Given the description of an element on the screen output the (x, y) to click on. 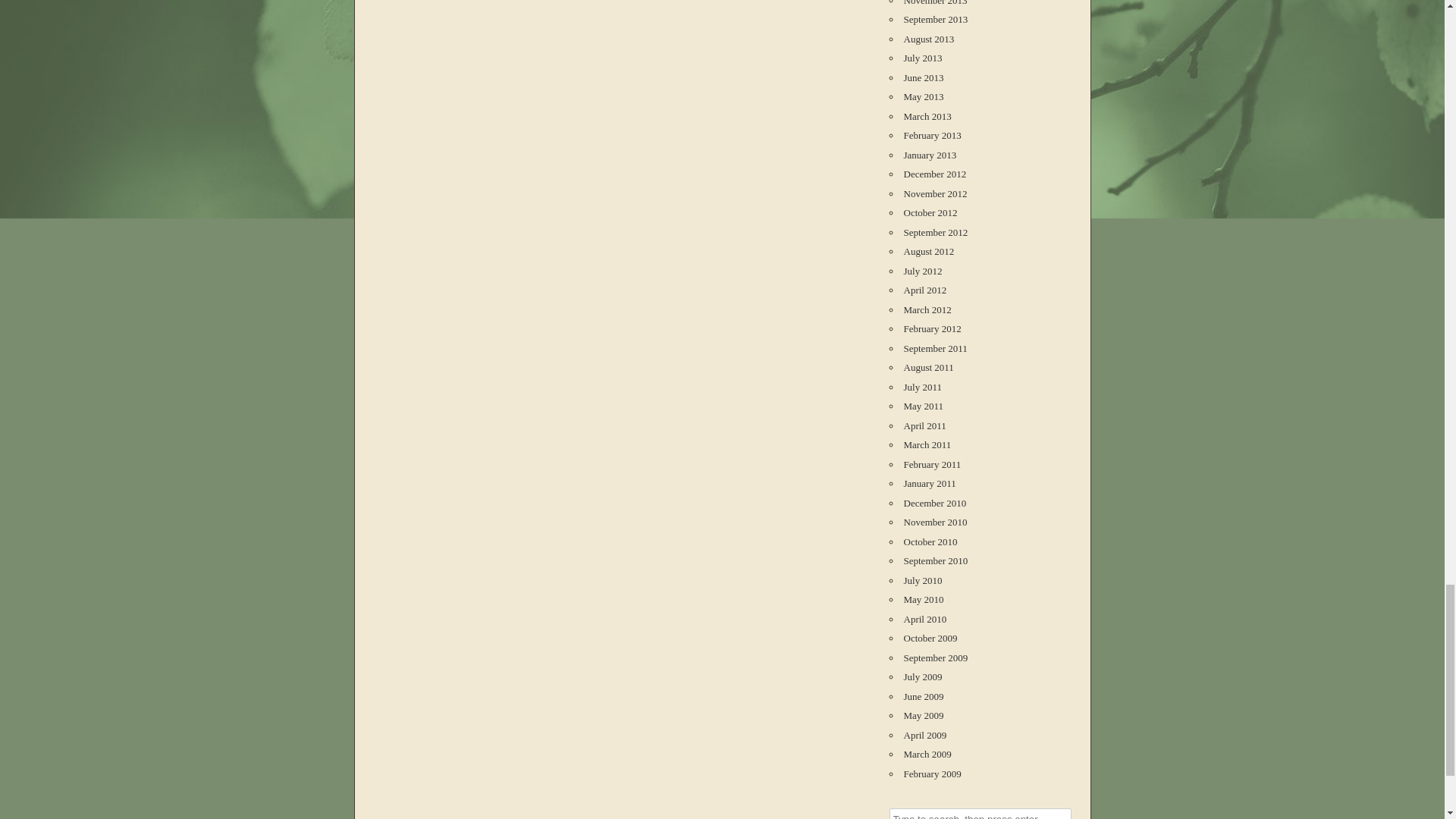
Type to search, then press enter (979, 813)
